Given the description of an element on the screen output the (x, y) to click on. 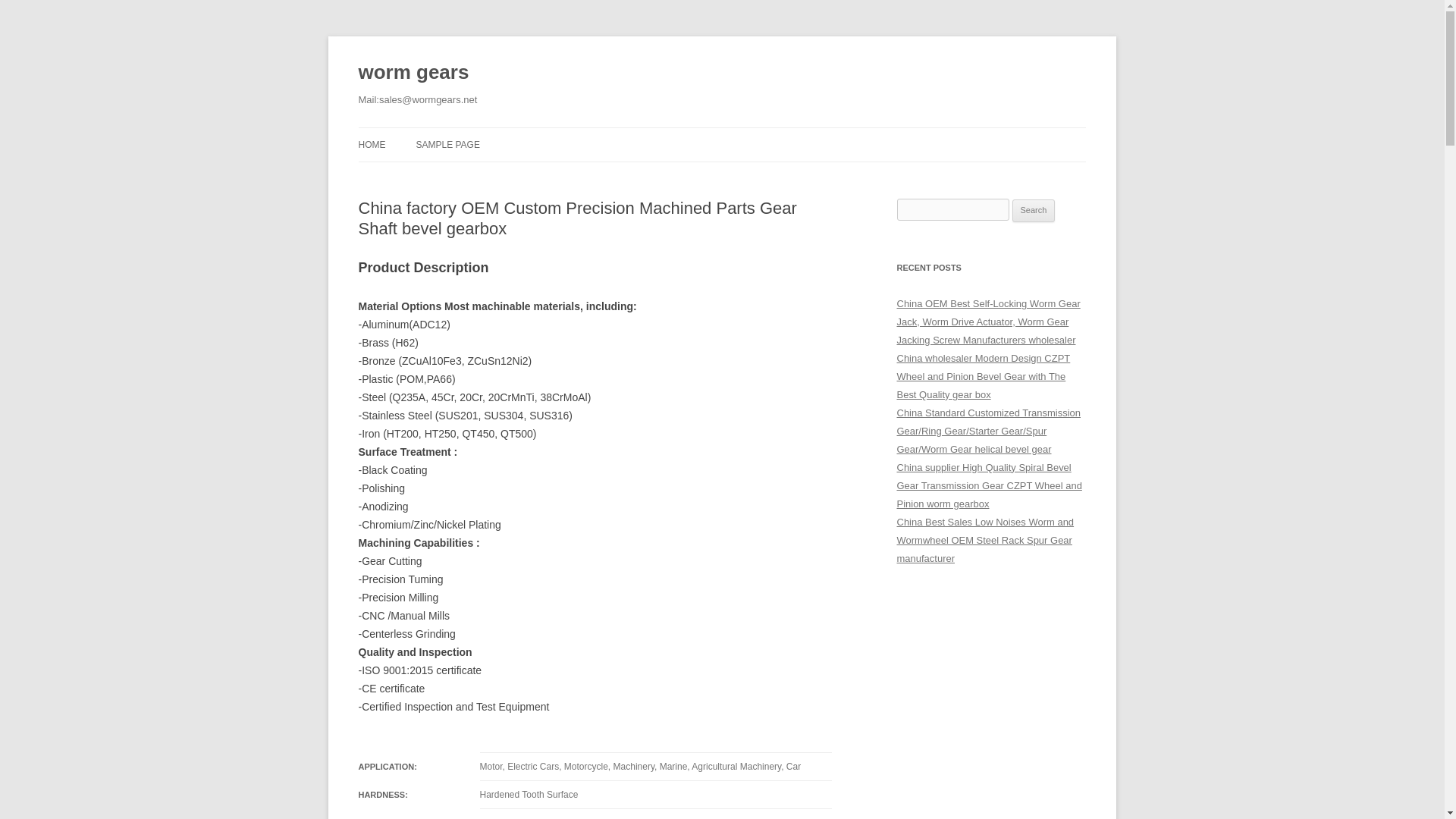
worm gears (413, 72)
Search (1033, 210)
SAMPLE PAGE (446, 144)
HOME (371, 144)
Search (1033, 210)
worm gears (413, 72)
